Given the description of an element on the screen output the (x, y) to click on. 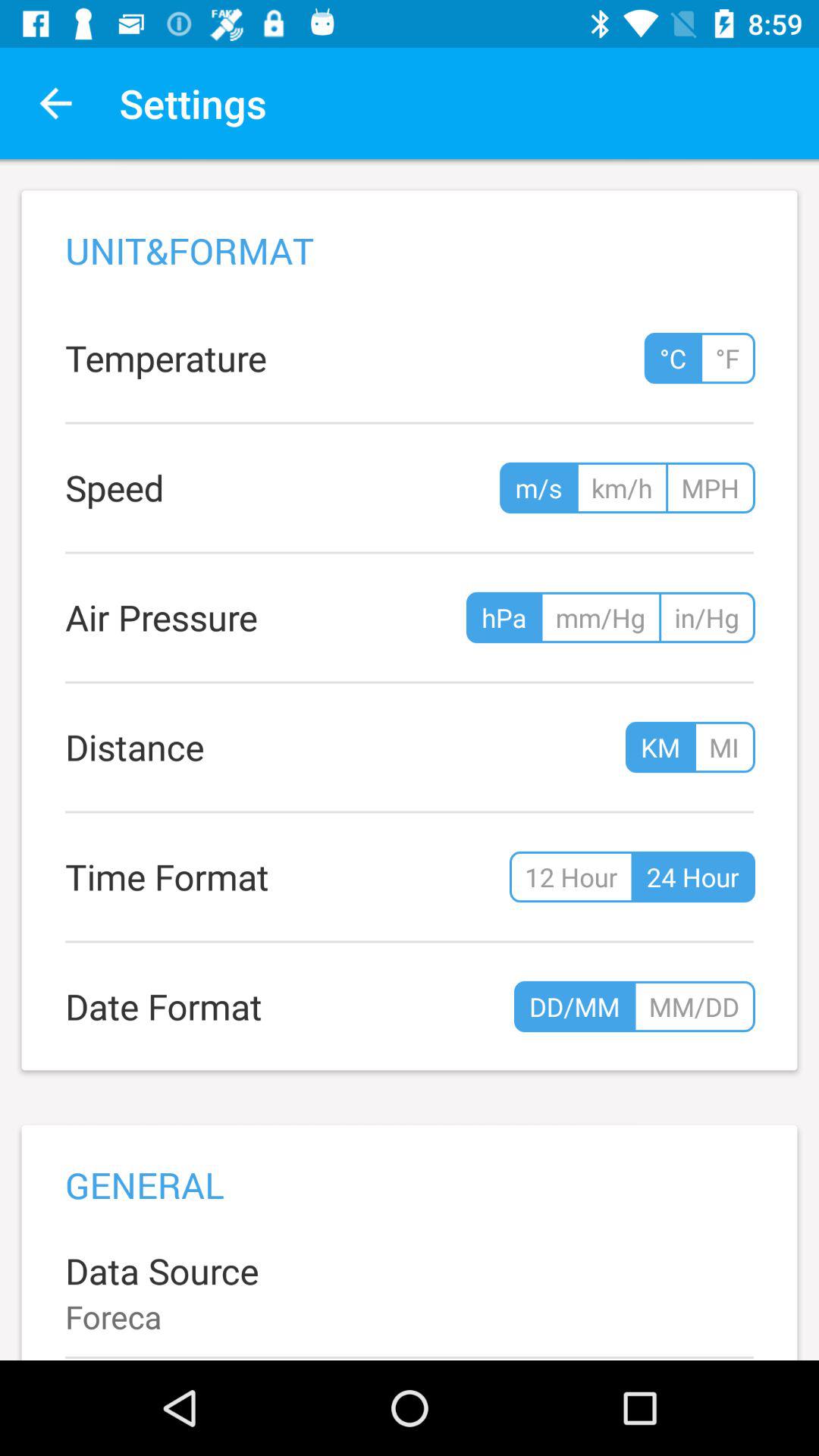
select mmhg from the air pressure (600, 617)
go to data source (409, 1292)
